Given the description of an element on the screen output the (x, y) to click on. 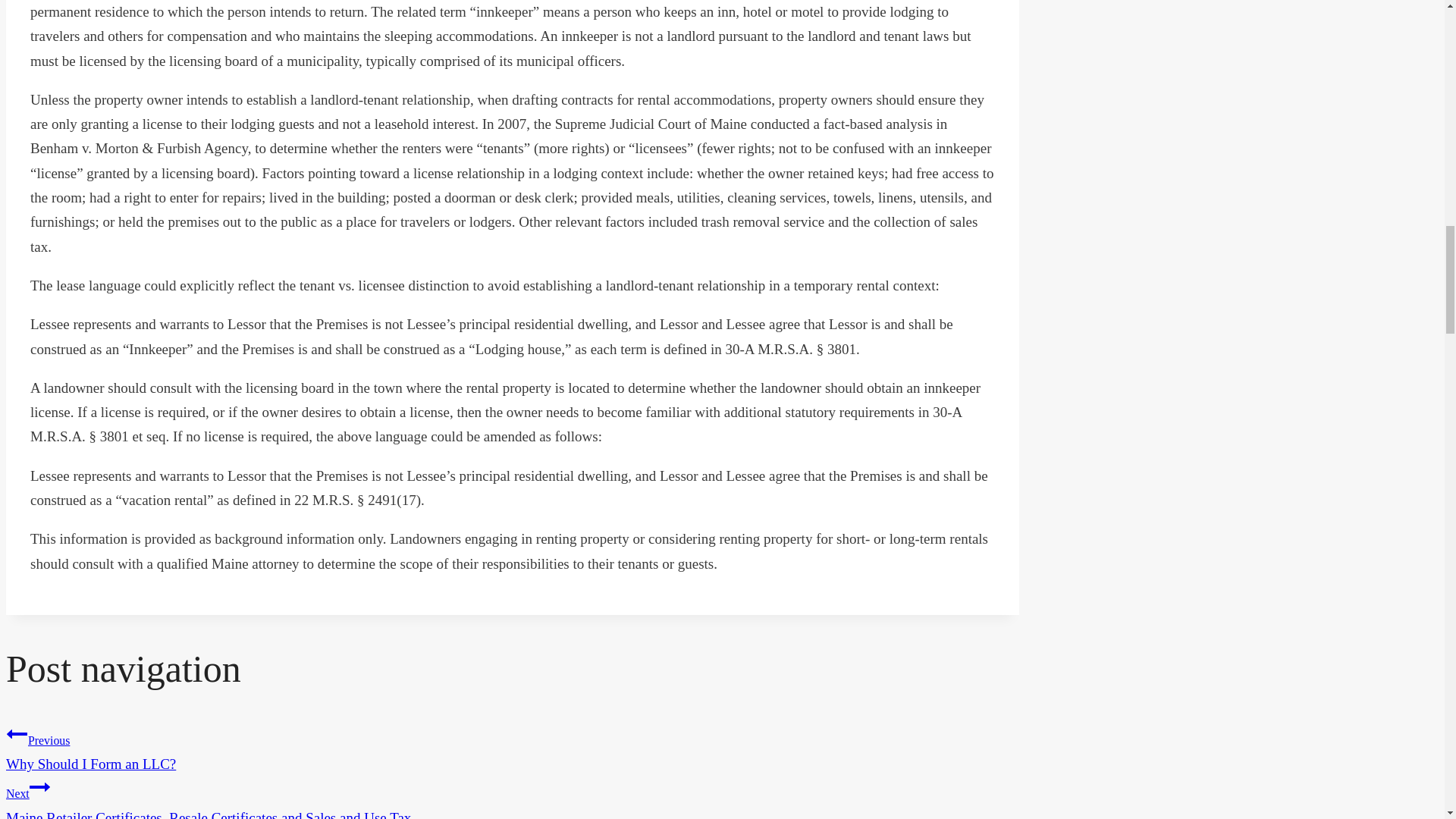
Previous (512, 747)
Continue (16, 733)
